Given the description of an element on the screen output the (x, y) to click on. 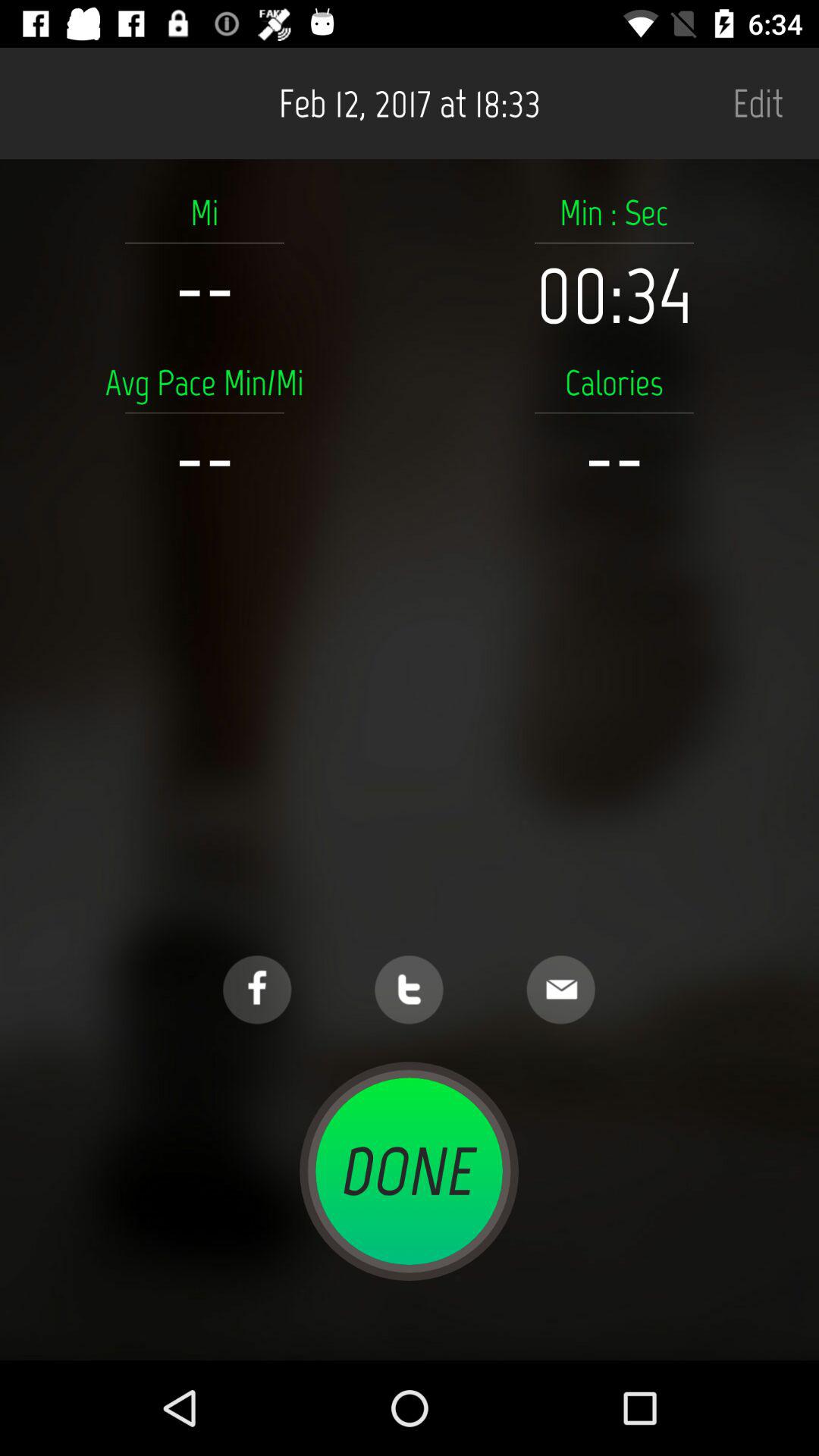
choose done icon (408, 1170)
